Given the description of an element on the screen output the (x, y) to click on. 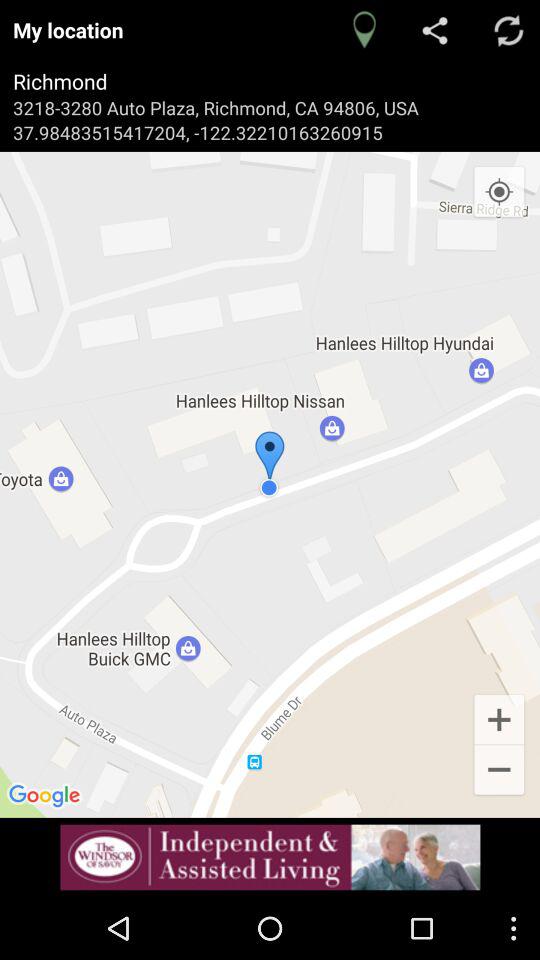
open advertisement (270, 857)
